Given the description of an element on the screen output the (x, y) to click on. 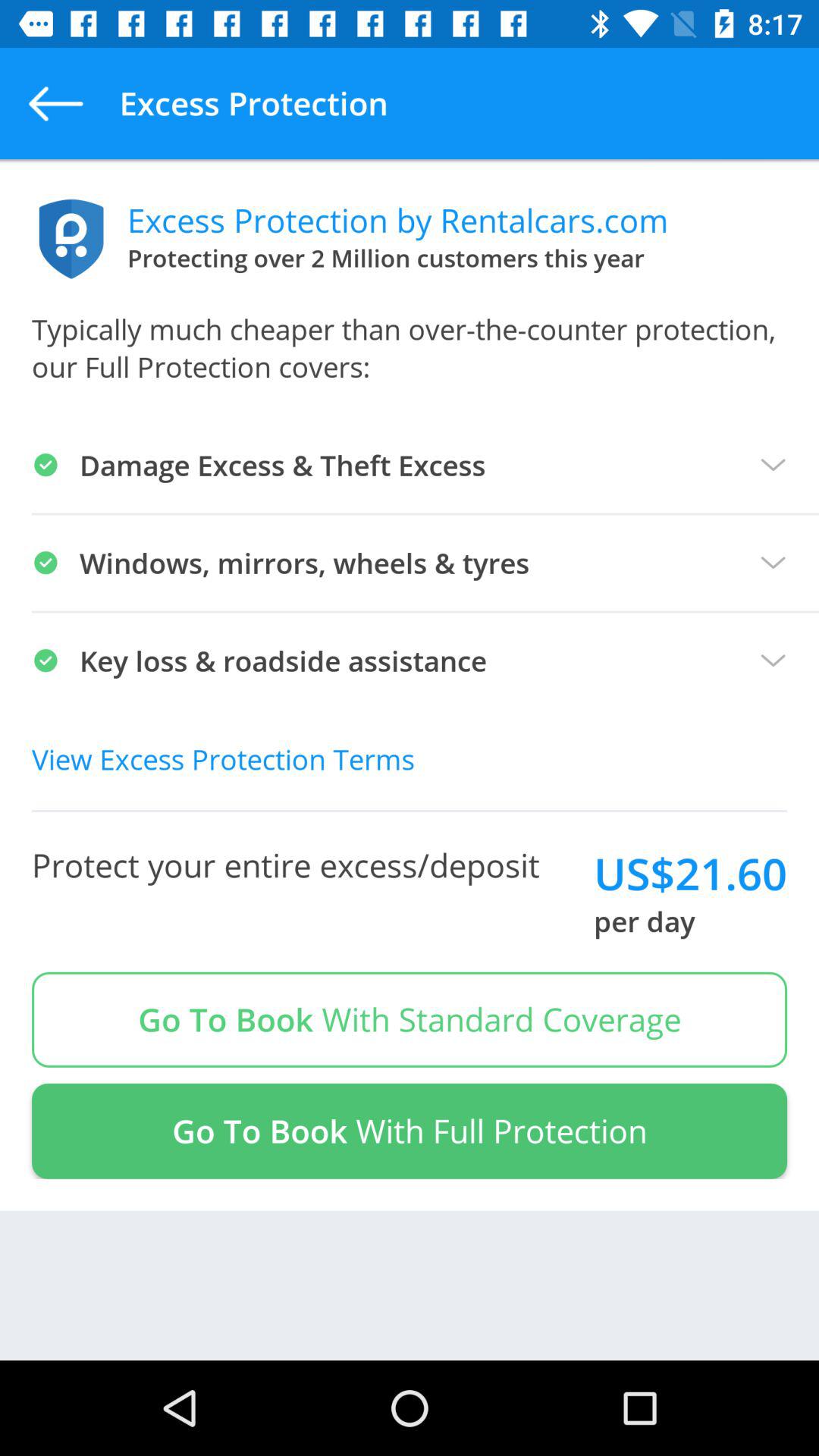
choose app to the left of the excess protection (55, 103)
